Given the description of an element on the screen output the (x, y) to click on. 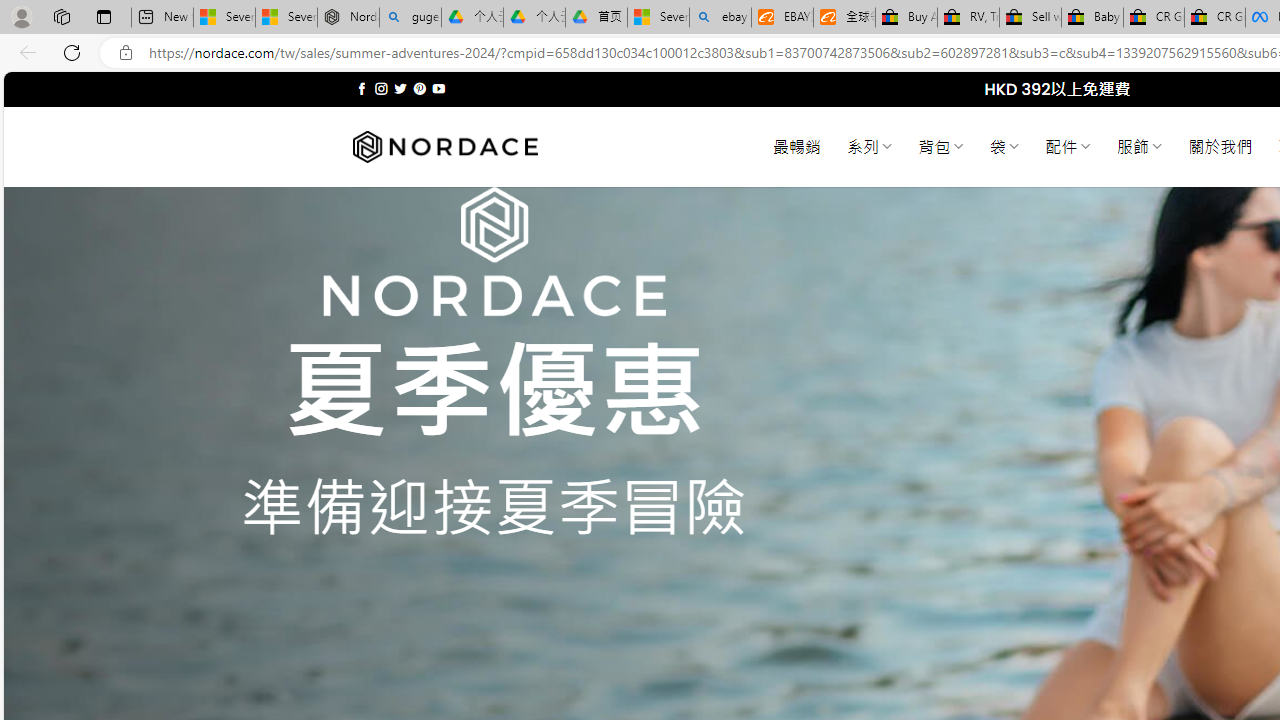
Follow on Pinterest (419, 88)
ebay - Search (720, 17)
Buy Auto Parts & Accessories | eBay (905, 17)
guge yunpan - Search (410, 17)
